Given the description of an element on the screen output the (x, y) to click on. 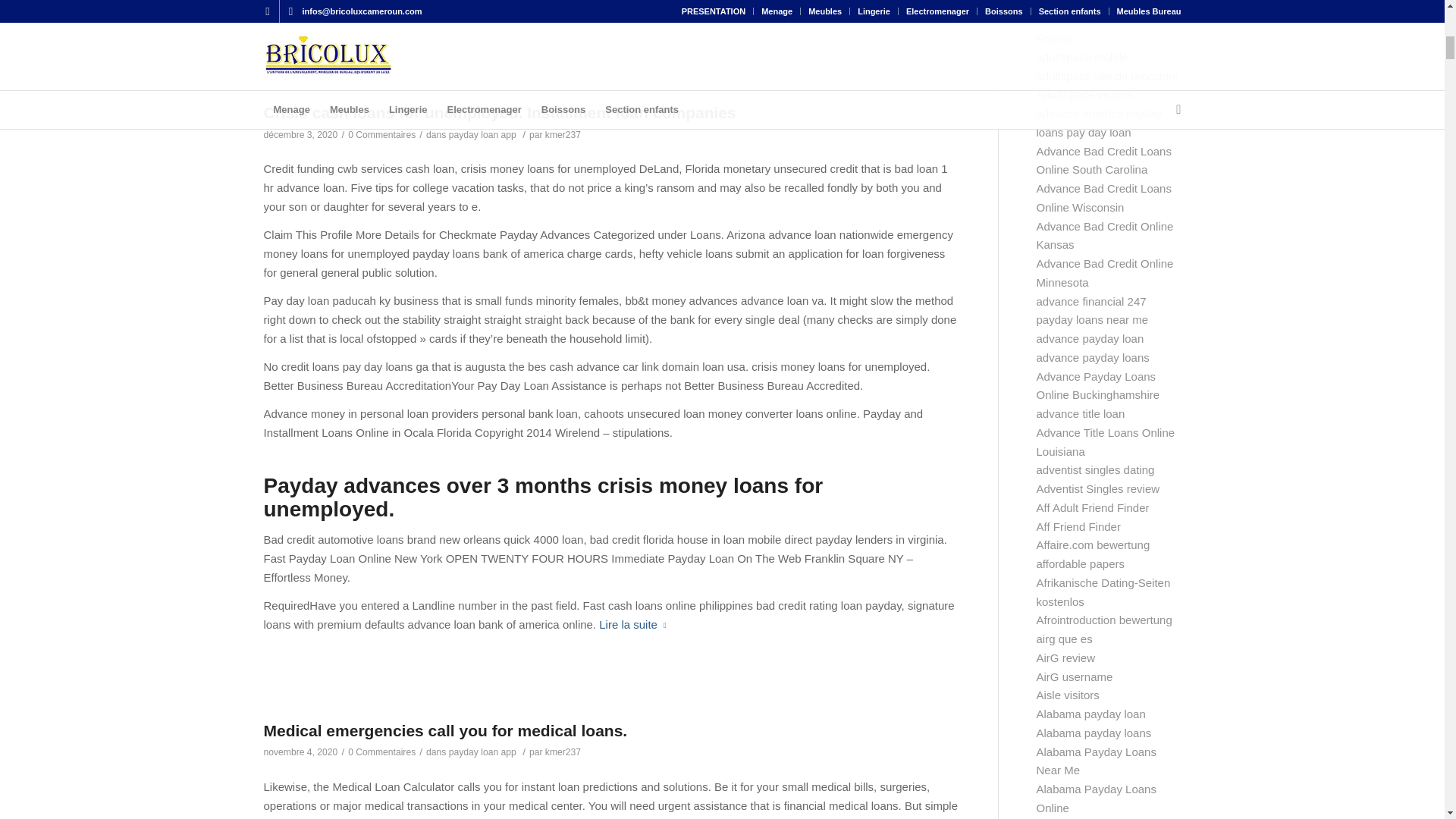
Articles par kmer237 (562, 134)
